Given the description of an element on the screen output the (x, y) to click on. 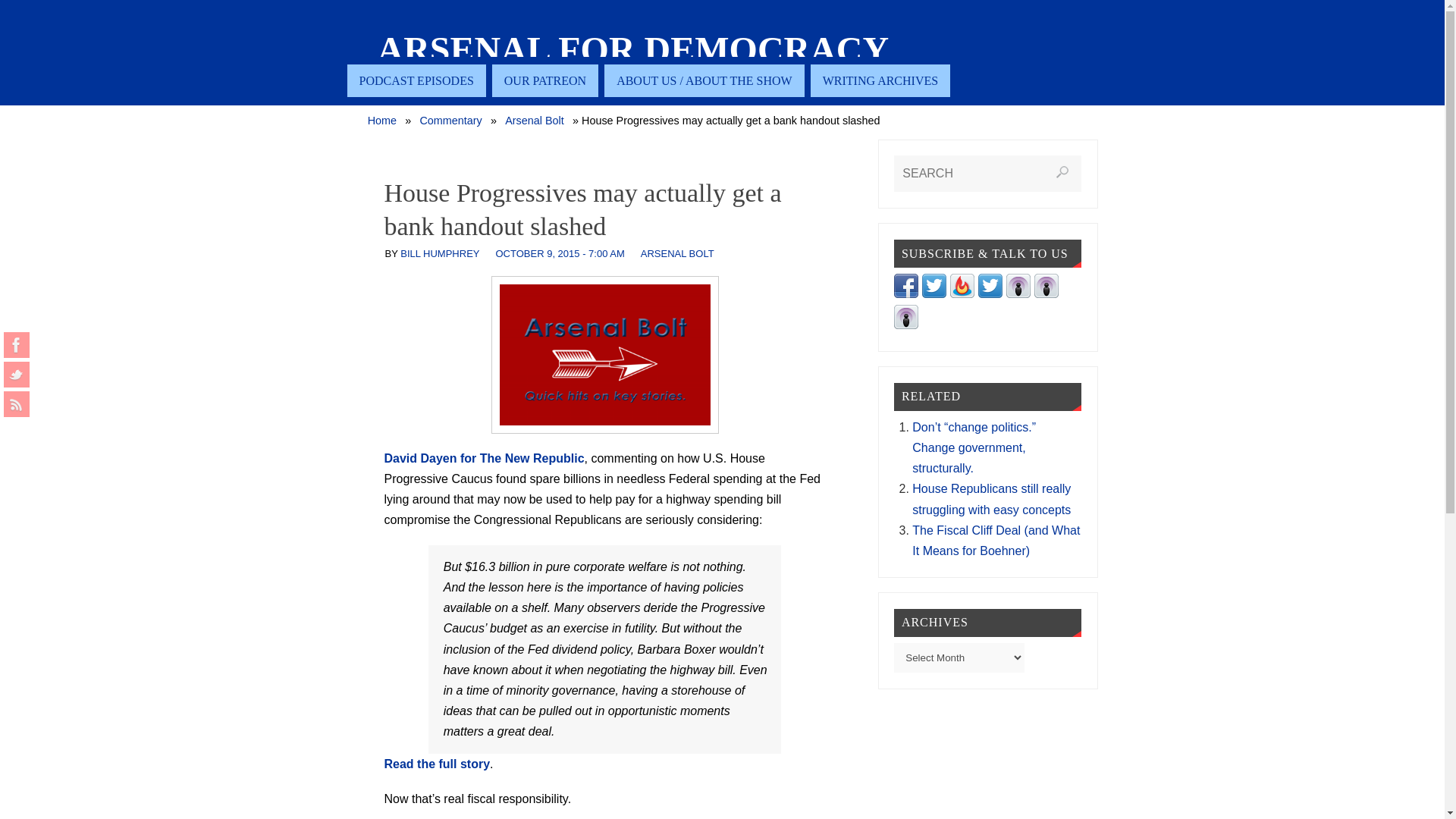
Connect on Facebook (905, 293)
Arsenal For Democracy (633, 49)
Podcast (1045, 293)
Podcast (905, 324)
Follow BillHumphreyMA on Twitter (990, 293)
View all posts by Bill Humphrey (439, 253)
OUR PATREON (545, 80)
Subscribe to RSS Feed (962, 293)
WRITING ARCHIVES (880, 80)
Read the full story (436, 763)
David Dayen for The New Republic (483, 458)
Arsenal Bolt (534, 120)
BILL HUMPHREY (439, 253)
Commentary (450, 120)
Follow afdradio on Twitter (933, 293)
